Given the description of an element on the screen output the (x, y) to click on. 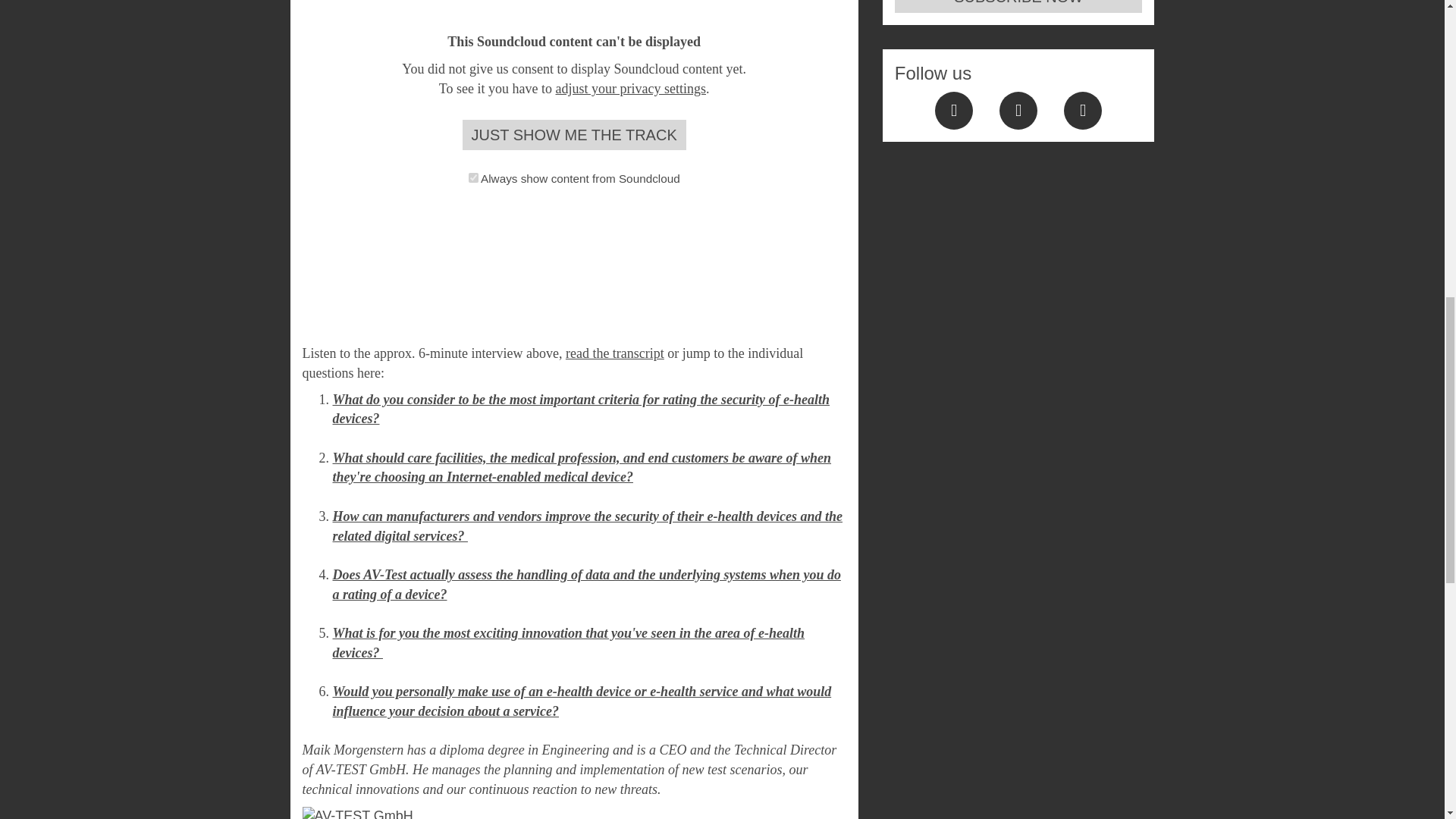
read the transcript (614, 353)
AV-TEST GmbH (431, 812)
JUST SHOW ME THE TRACK (574, 134)
SUBSCRIBE NOW (1018, 6)
